Given the description of an element on the screen output the (x, y) to click on. 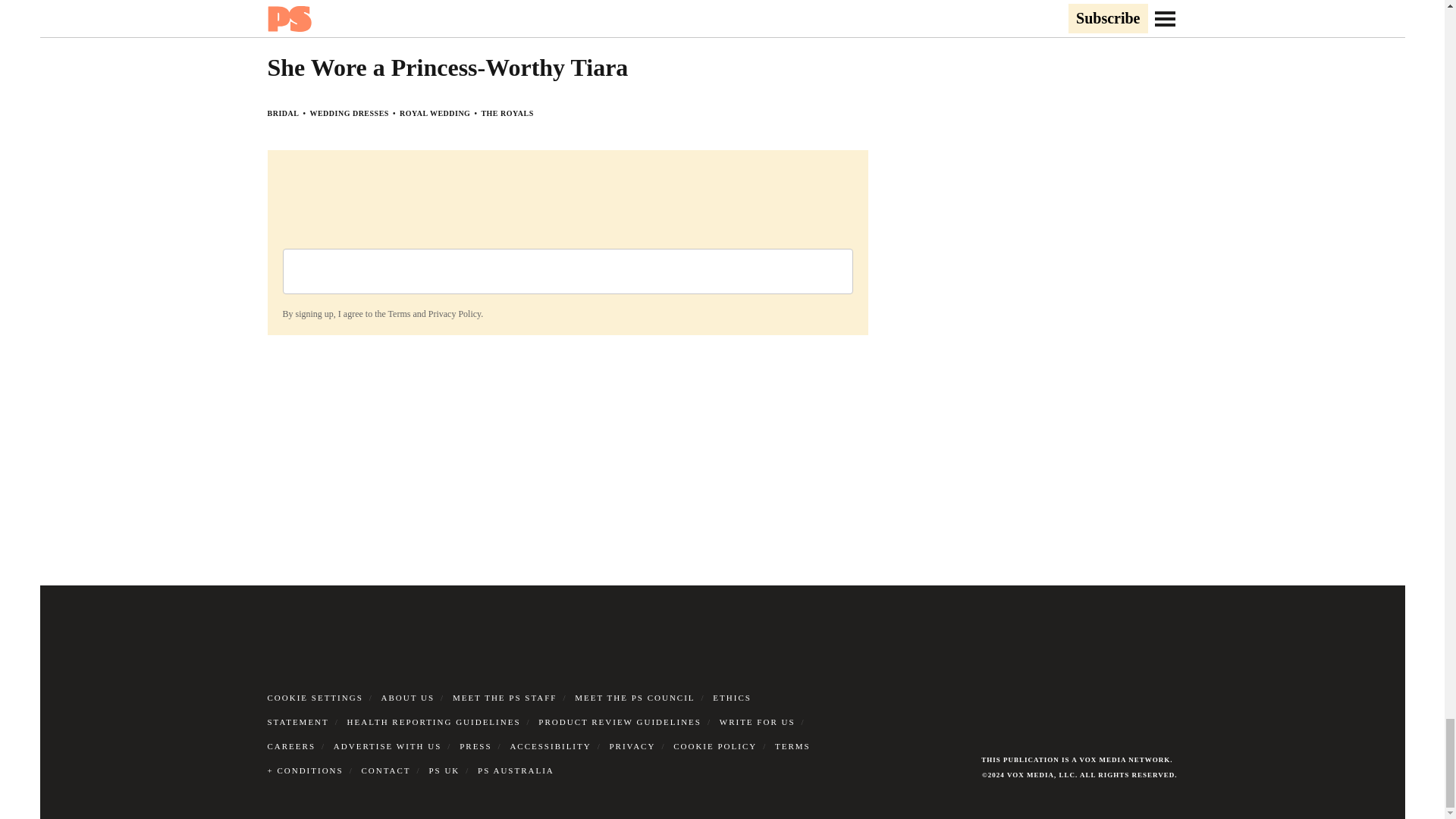
HEALTH REPORTING GUIDELINES (434, 721)
ABOUT US (408, 697)
ROYAL WEDDING (434, 112)
THE ROYALS (506, 112)
MEET THE PS STAFF (504, 697)
ETHICS STATEMENT (508, 709)
MEET THE PS COUNCIL (634, 697)
Privacy Policy. (455, 313)
BRIDAL (282, 112)
WEDDING DRESSES (348, 112)
